Given the description of an element on the screen output the (x, y) to click on. 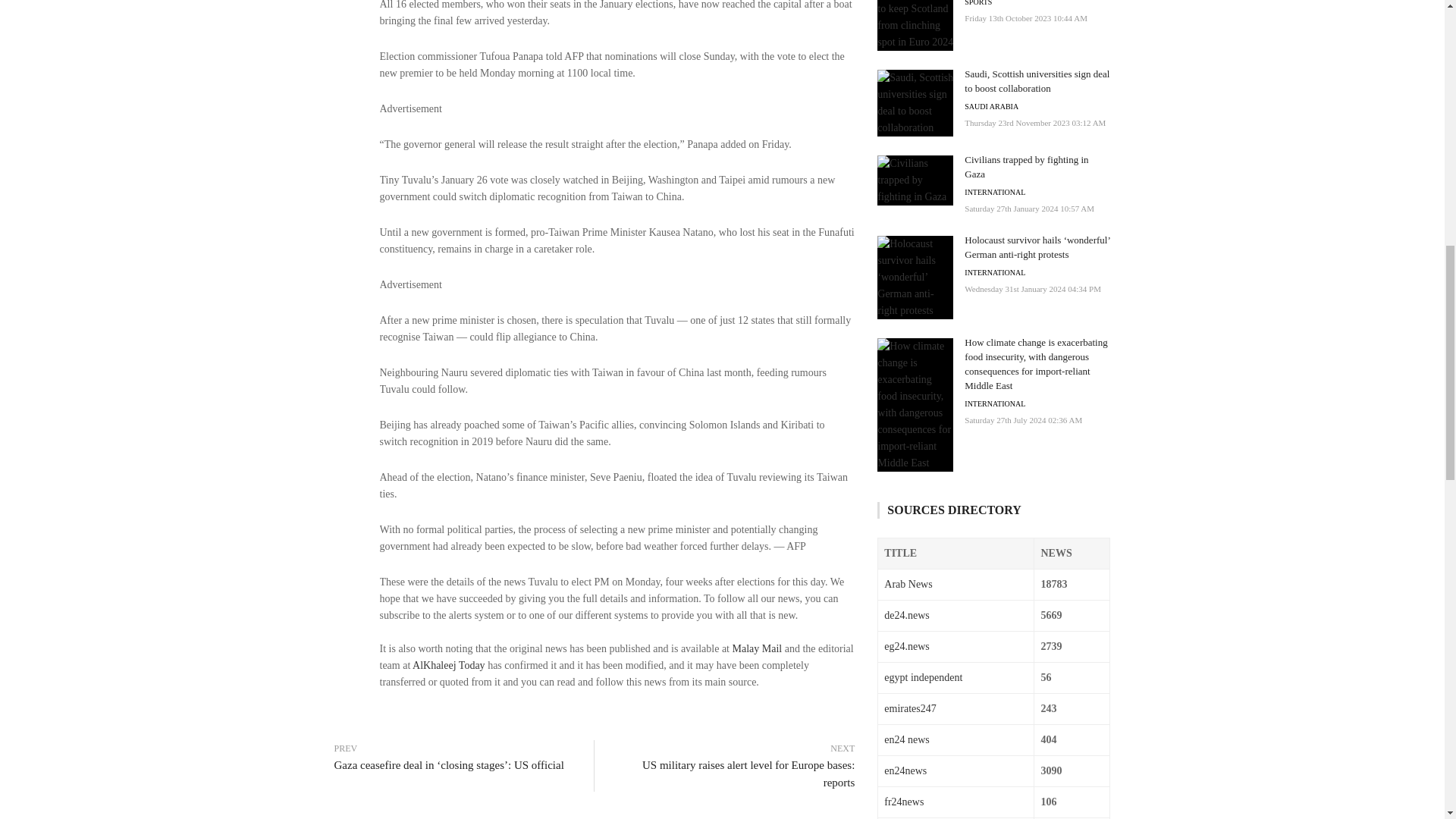
Malay Mail (757, 648)
AlKhaleej Today (448, 665)
US military raises alert level for Europe bases: reports (732, 773)
